Given the description of an element on the screen output the (x, y) to click on. 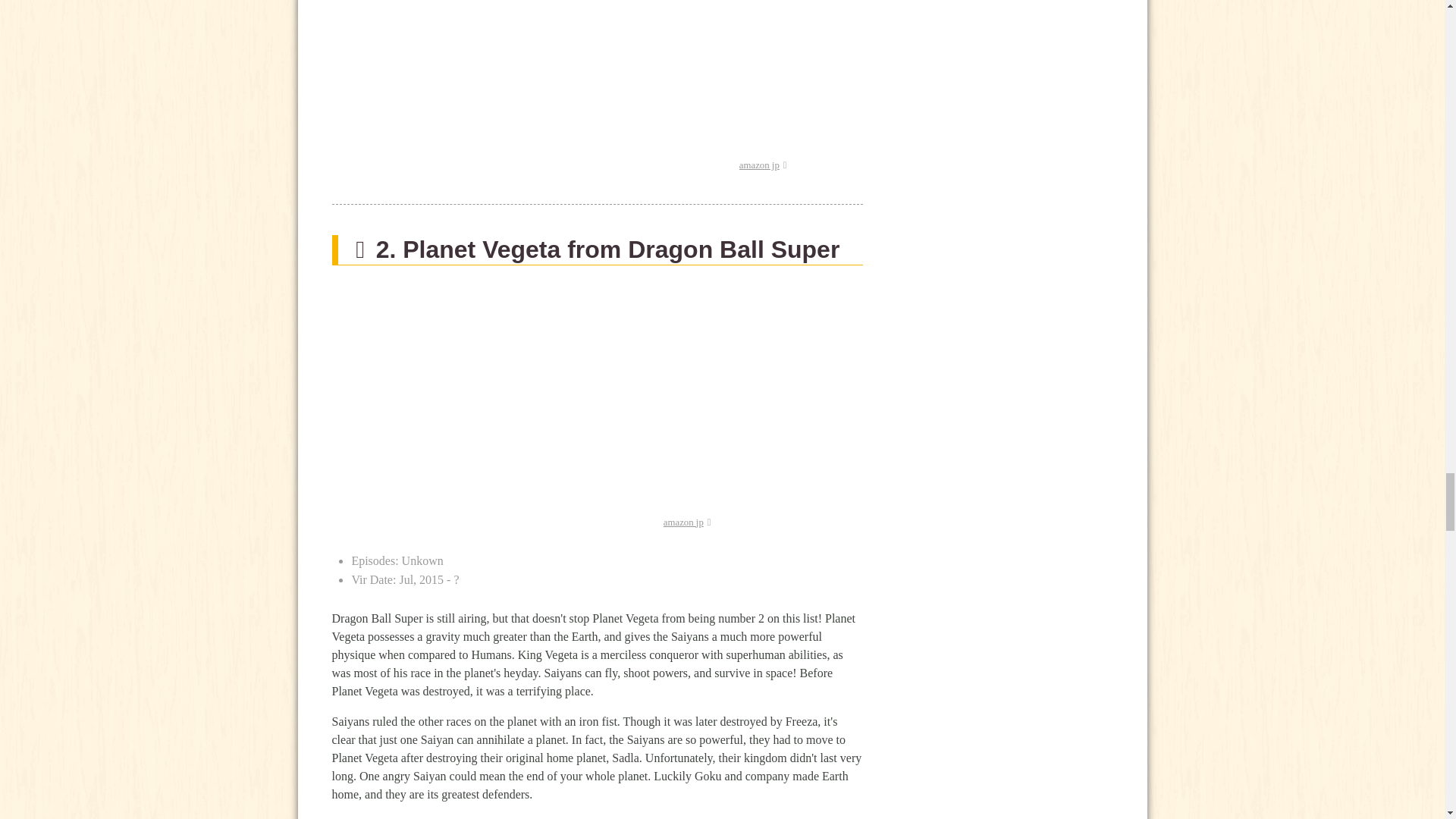
amazon jp (687, 521)
amazon jp (763, 164)
